Given the description of an element on the screen output the (x, y) to click on. 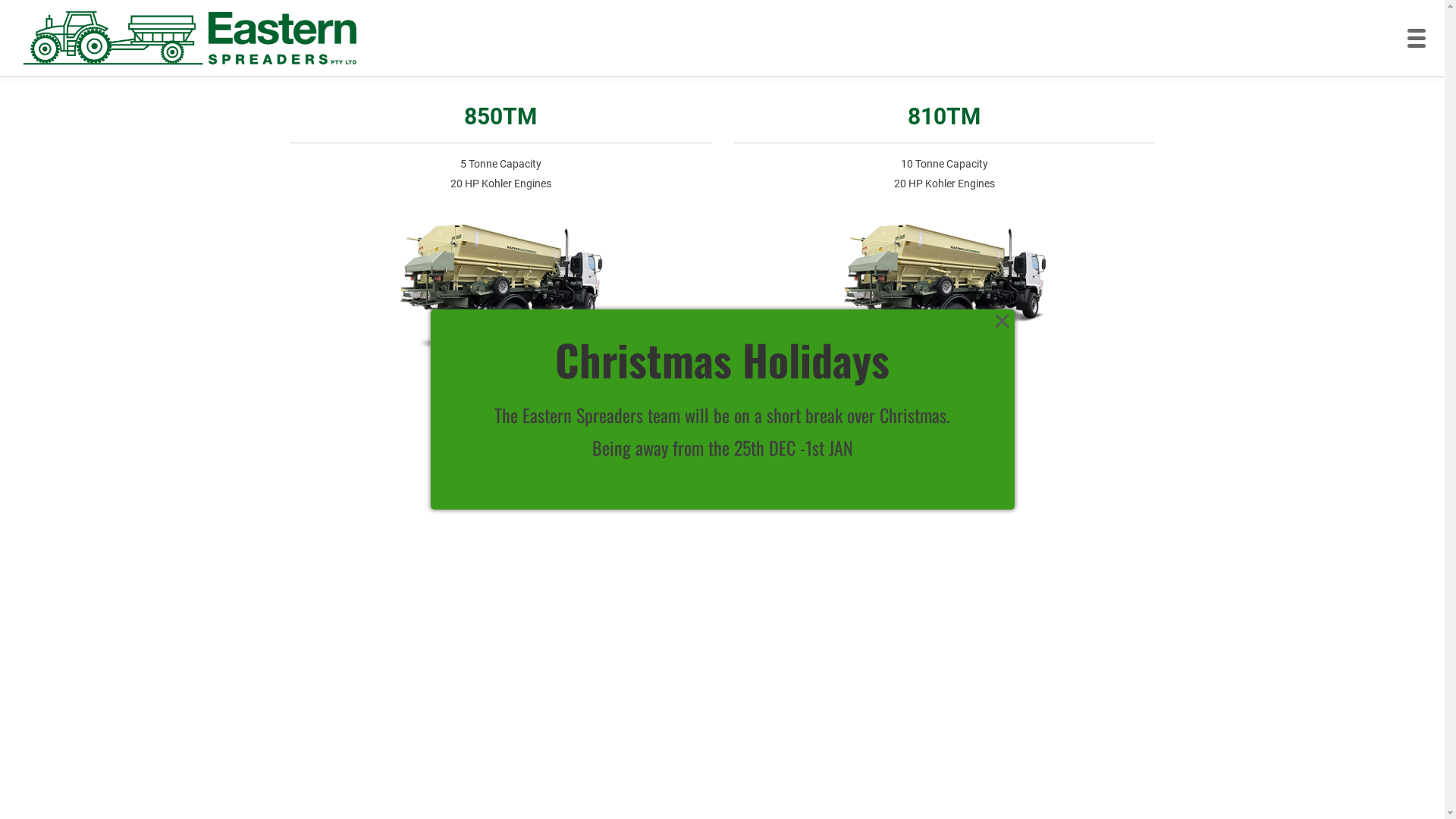
Truck-300x201 Element type: hover (500, 292)
Learn More Element type: text (500, 402)
Truck-300x201 Element type: hover (943, 292)
Learn More Element type: text (943, 402)
